Given the description of an element on the screen output the (x, y) to click on. 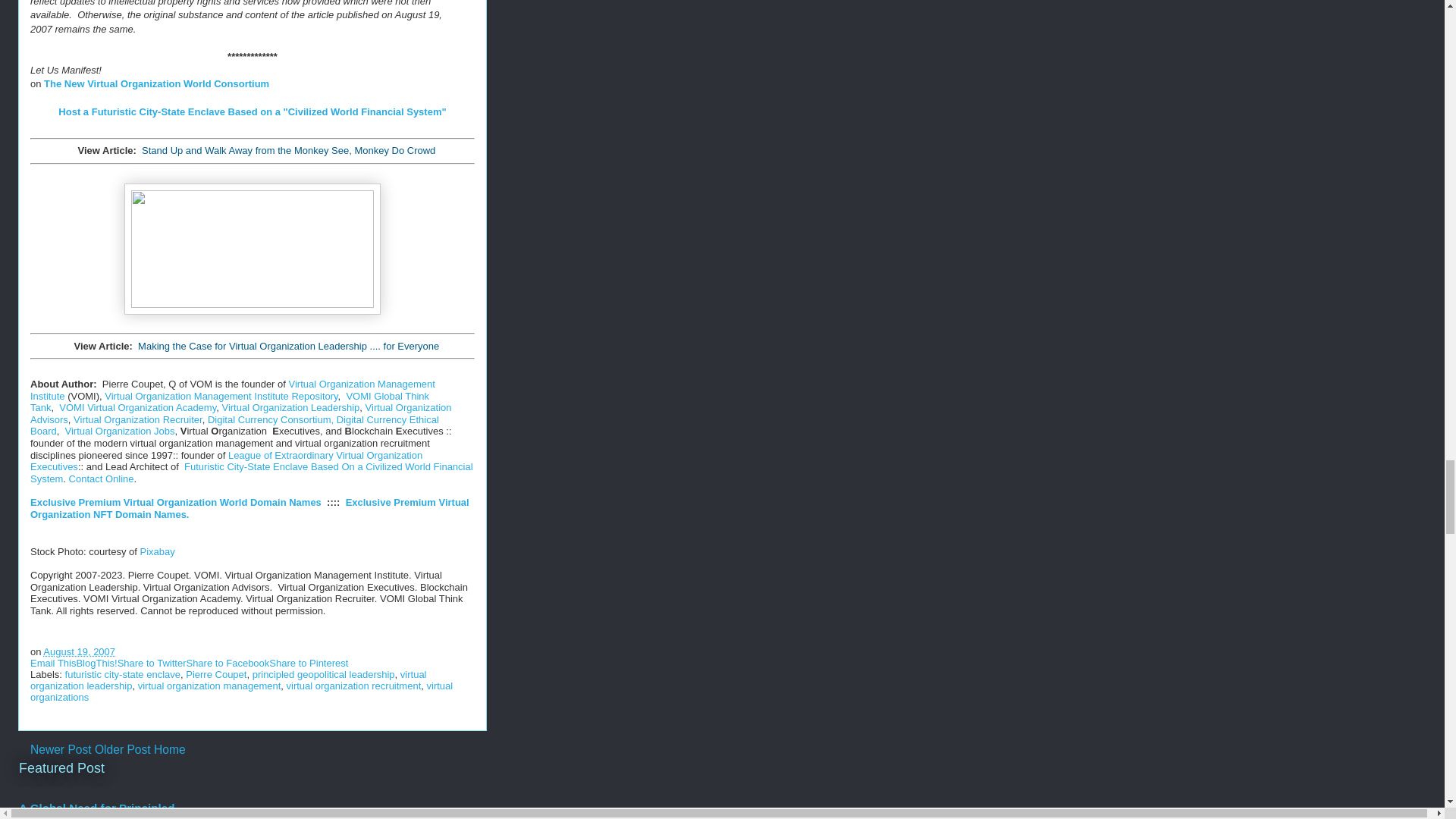
Digital Currency Consortium, (270, 419)
Newer Post (60, 748)
Virtual Organization Advisors (240, 413)
The New Virtual Organization World Consortium (156, 83)
BlogThis! (95, 663)
League of Extraordinary Virtual Organization Executives (226, 461)
Share to Twitter (151, 663)
Share to Pinterest (308, 663)
Share to Facebook (227, 663)
August 19, 2007 (79, 651)
Exclusive Premium Virtual Organization NFT Domain Names. (249, 508)
Exclusive Premium Virtual Organization World Domain Names (175, 501)
Pixabay (156, 551)
futuristic city-state enclave (122, 674)
Virtual Organization Management Institute Repository (220, 396)
